Given the description of an element on the screen output the (x, y) to click on. 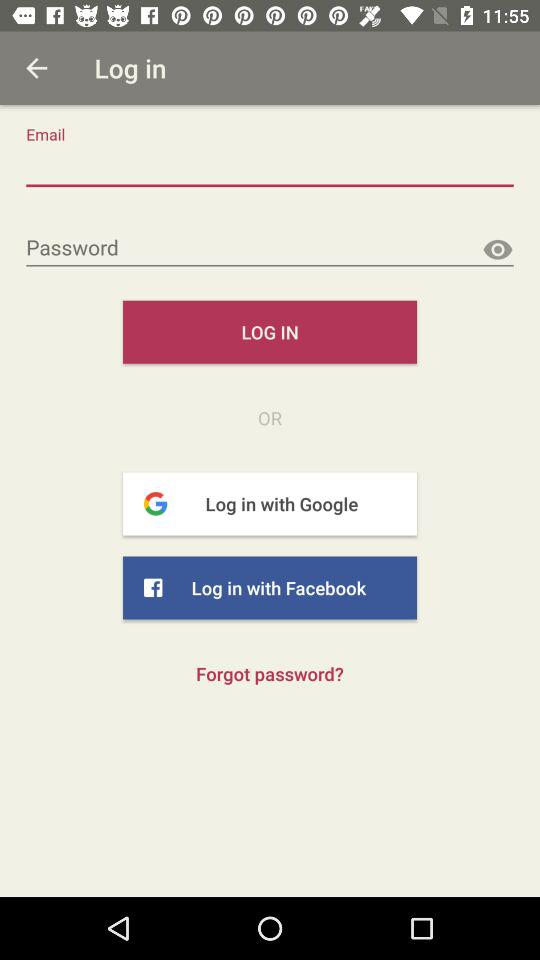
previous (36, 68)
